Given the description of an element on the screen output the (x, y) to click on. 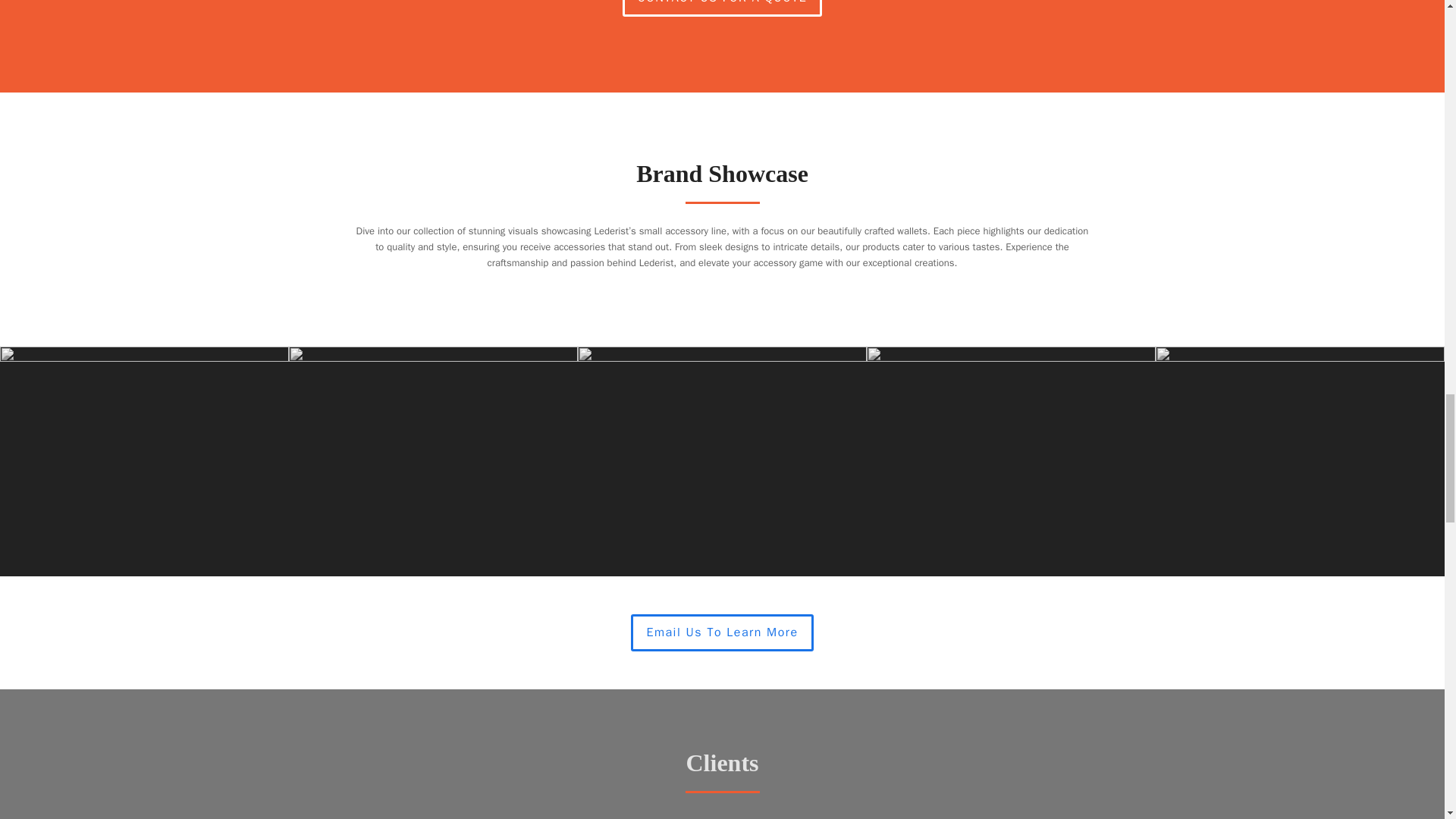
CONTACT US FOR A QUOTE (721, 8)
CONTACT US FOR A QUOTE (721, 8)
Email Us To Learn More (721, 632)
Contact Us For A Quote (721, 8)
More On Dribbble (721, 632)
